Given the description of an element on the screen output the (x, y) to click on. 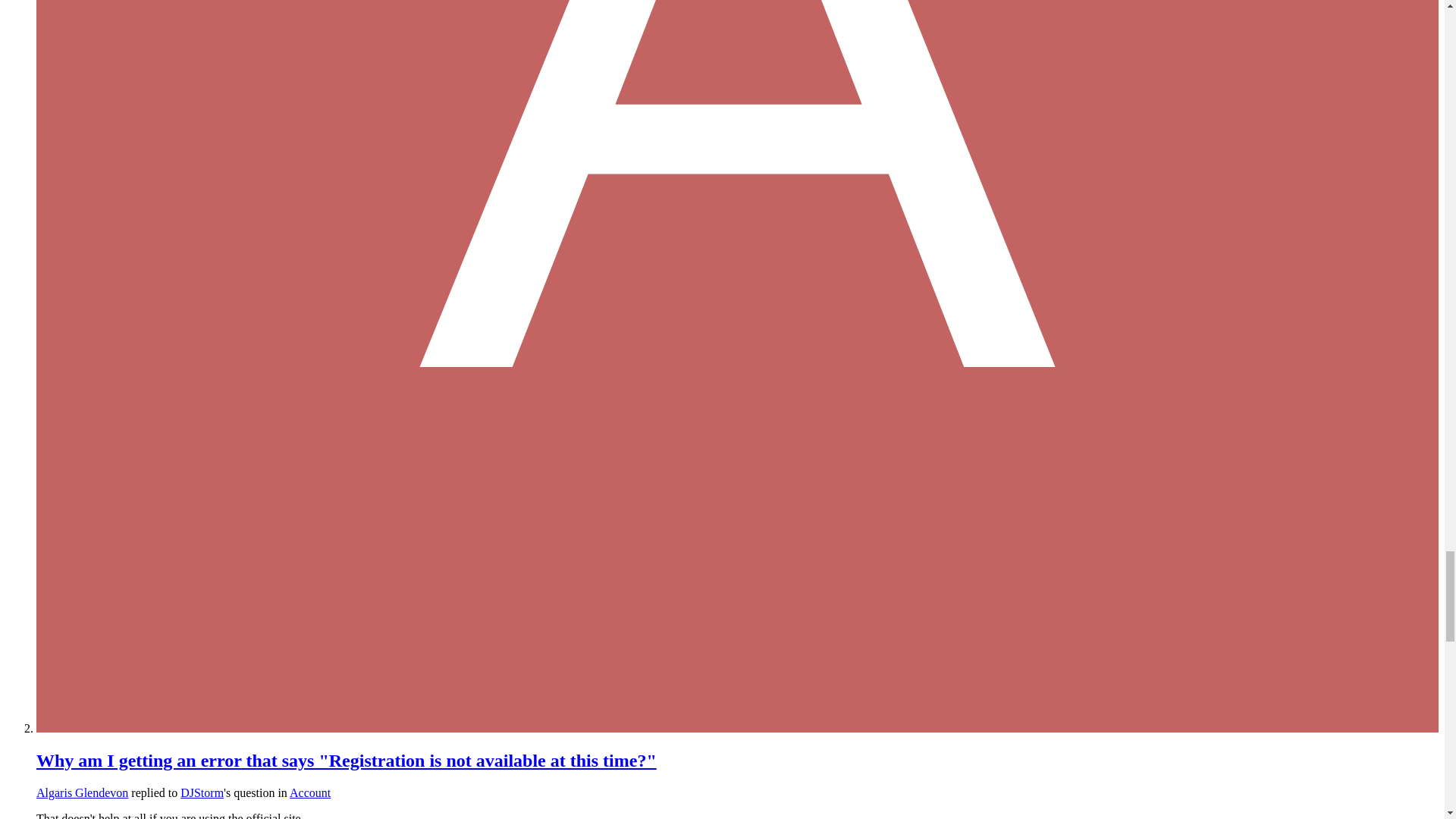
Go to DJStorm's profile (202, 792)
Go to Algaris Glendevon's profile (82, 792)
